Given the description of an element on the screen output the (x, y) to click on. 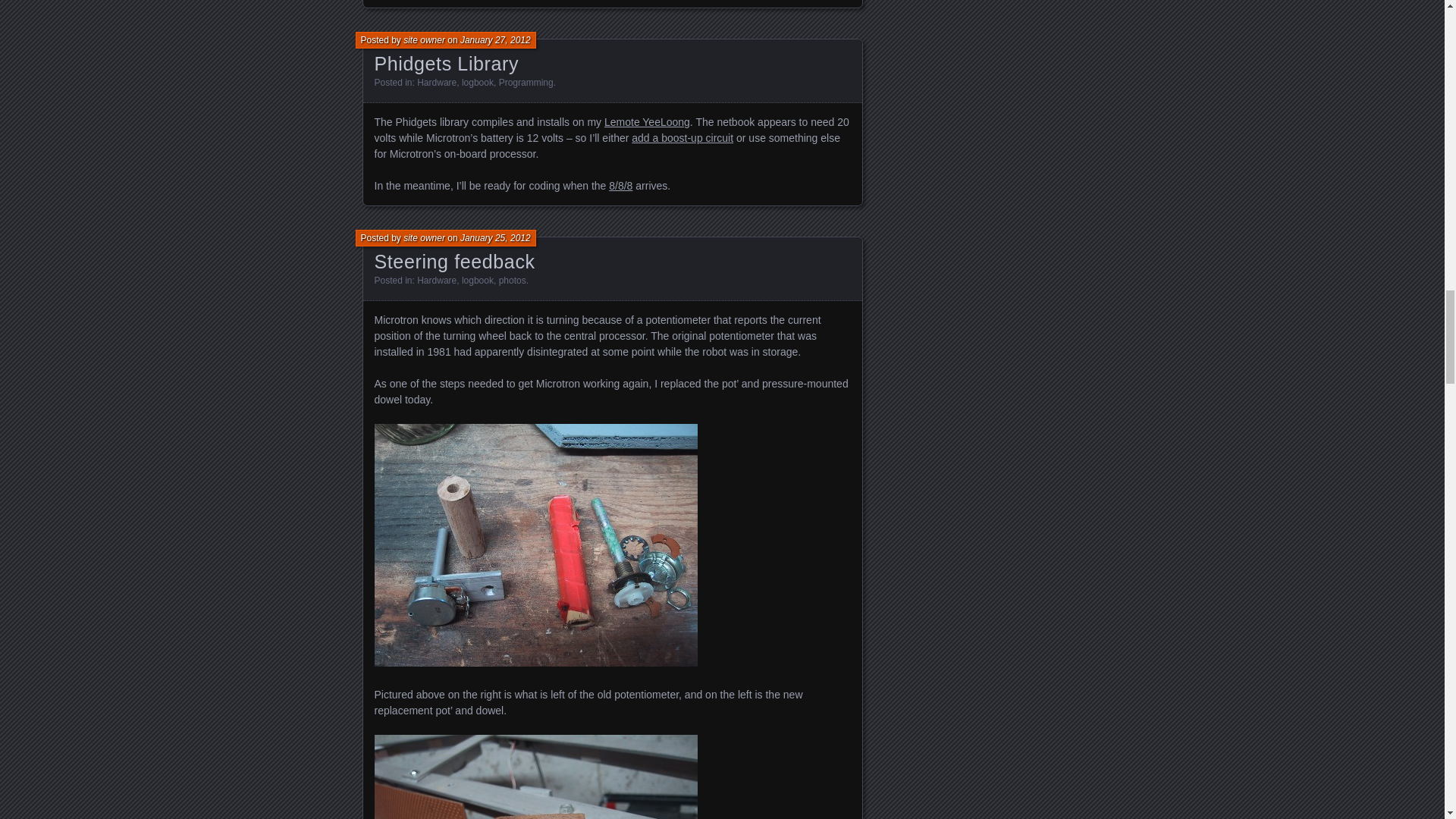
View all posts by site owner (424, 237)
View all posts by site owner (424, 40)
